Given the description of an element on the screen output the (x, y) to click on. 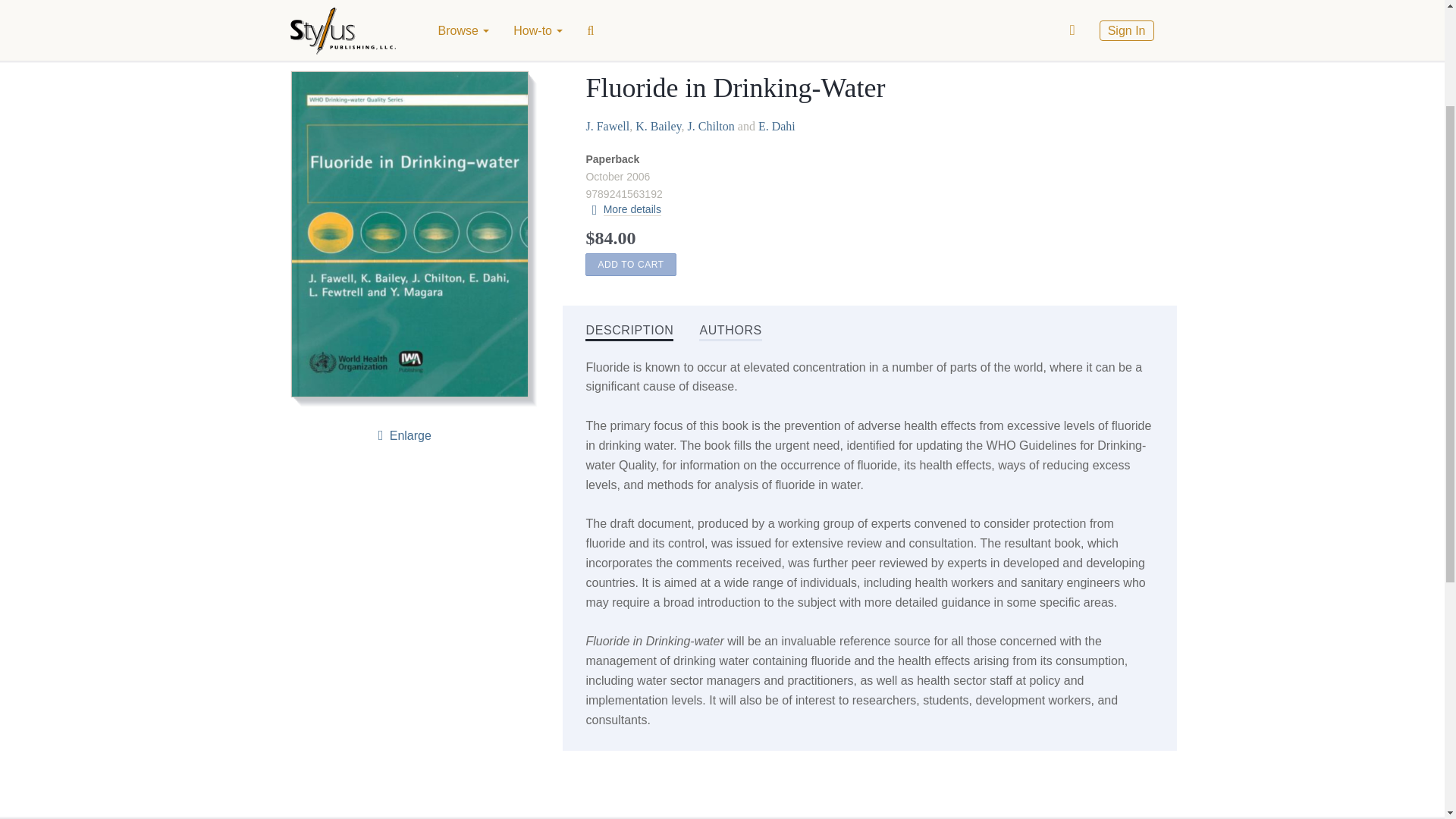
Enlarge (401, 435)
J. Fawell (606, 125)
K. Bailey (657, 125)
J. Chilton (711, 125)
E. Dahi (776, 125)
